Given the description of an element on the screen output the (x, y) to click on. 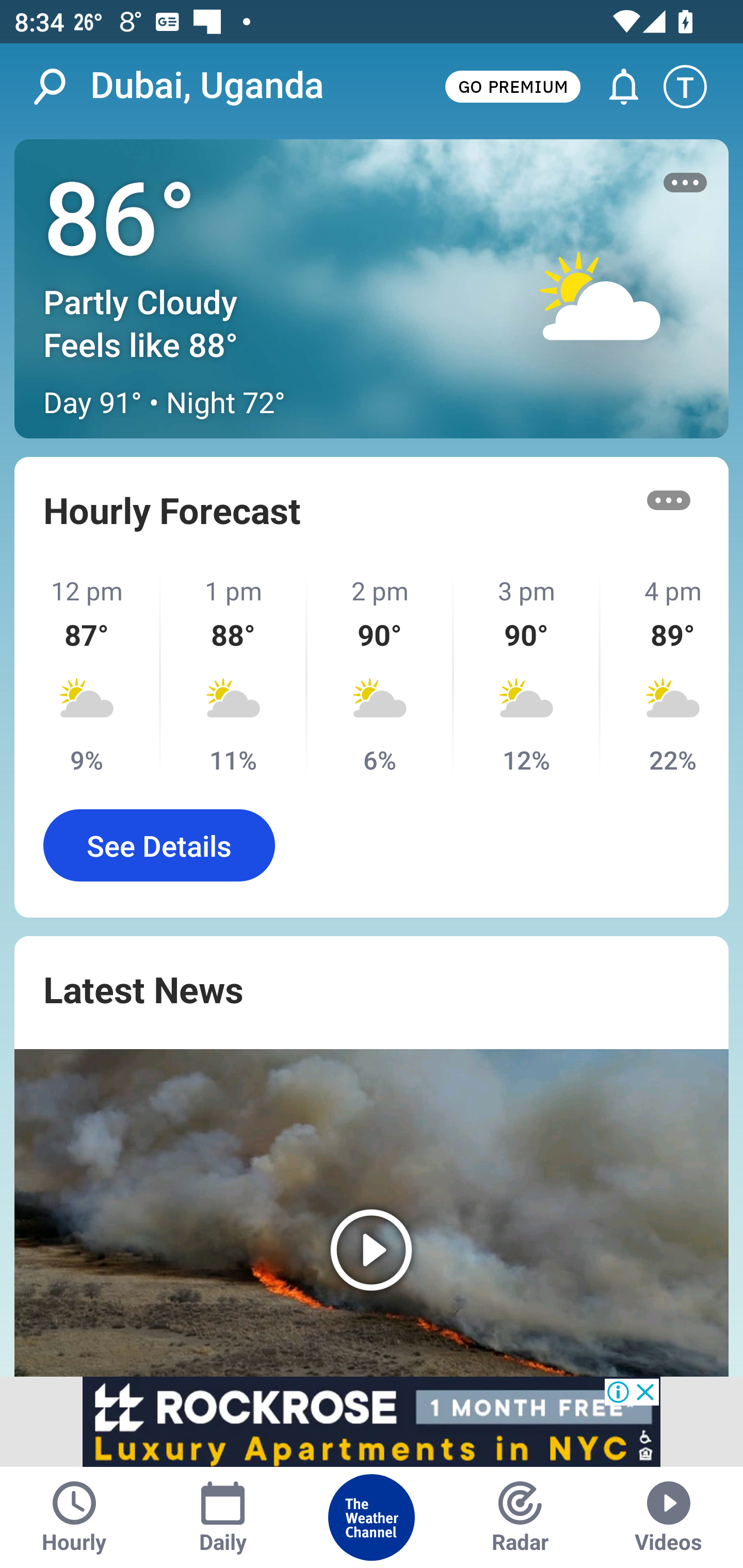
Search (59, 86)
Go to Alerts and Notifications (614, 86)
Setting icon T (694, 86)
Dubai, Uganda (206, 85)
GO PREMIUM (512, 85)
More options (684, 182)
More options (668, 500)
12 pm 87° 9% (87, 674)
1 pm 88° 11% (234, 674)
2 pm 90° 6% (380, 674)
3 pm 90° 12% (526, 674)
4 pm 89° 22% (664, 674)
See Details (158, 845)
Play (371, 1212)
Hourly Tab Hourly (74, 1517)
Daily Tab Daily (222, 1517)
Radar Tab Radar (519, 1517)
Videos Tab Videos (668, 1517)
